Given the description of an element on the screen output the (x, y) to click on. 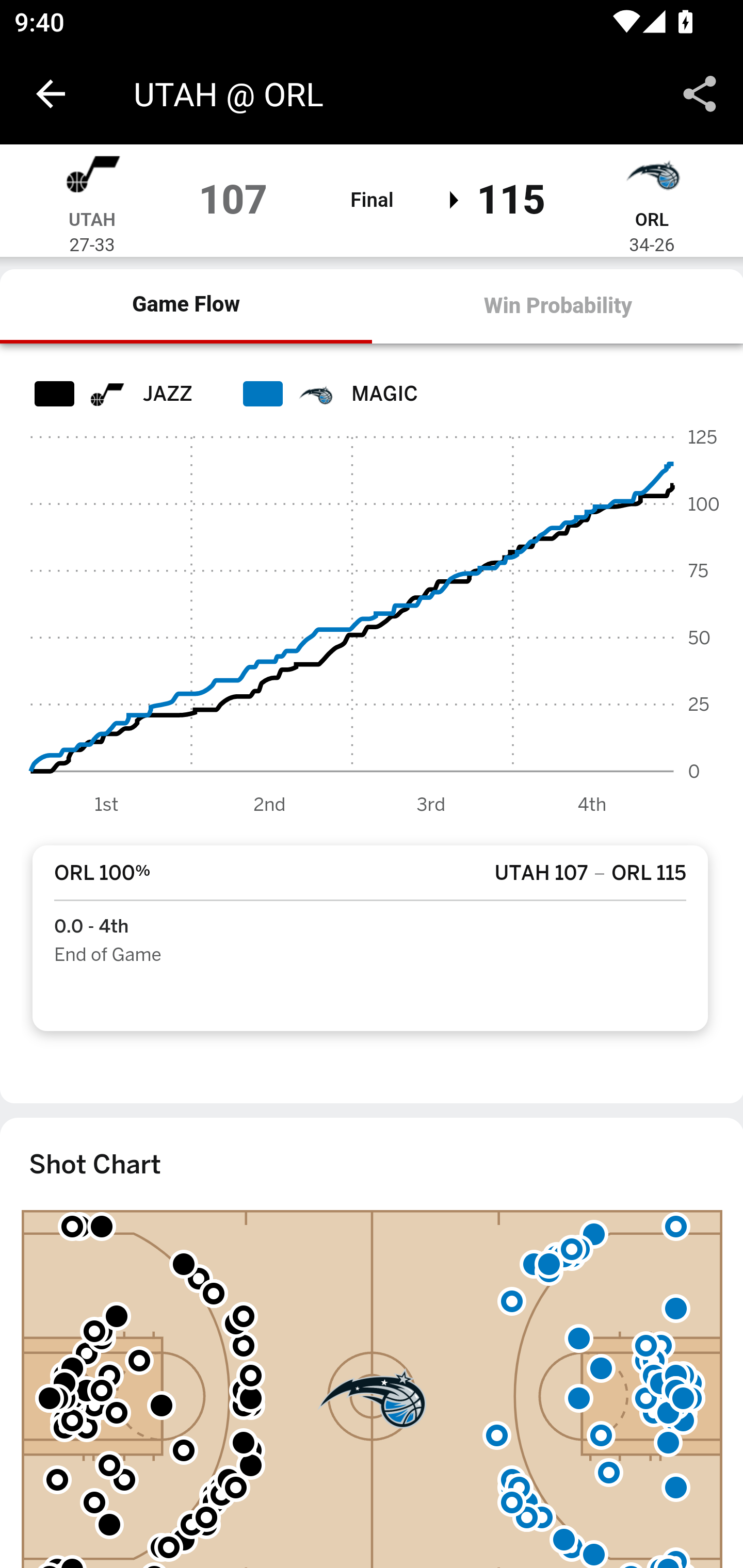
Navigate up (50, 93)
Share (699, 93)
Utah Jazz (91, 177)
Orlando Magic (651, 177)
UTAH (91, 221)
ORL (651, 221)
Game Flow (186, 306)
Win Probability (557, 306)
Jazz (106, 393)
#0077c0 (314, 393)
